Given the description of an element on the screen output the (x, y) to click on. 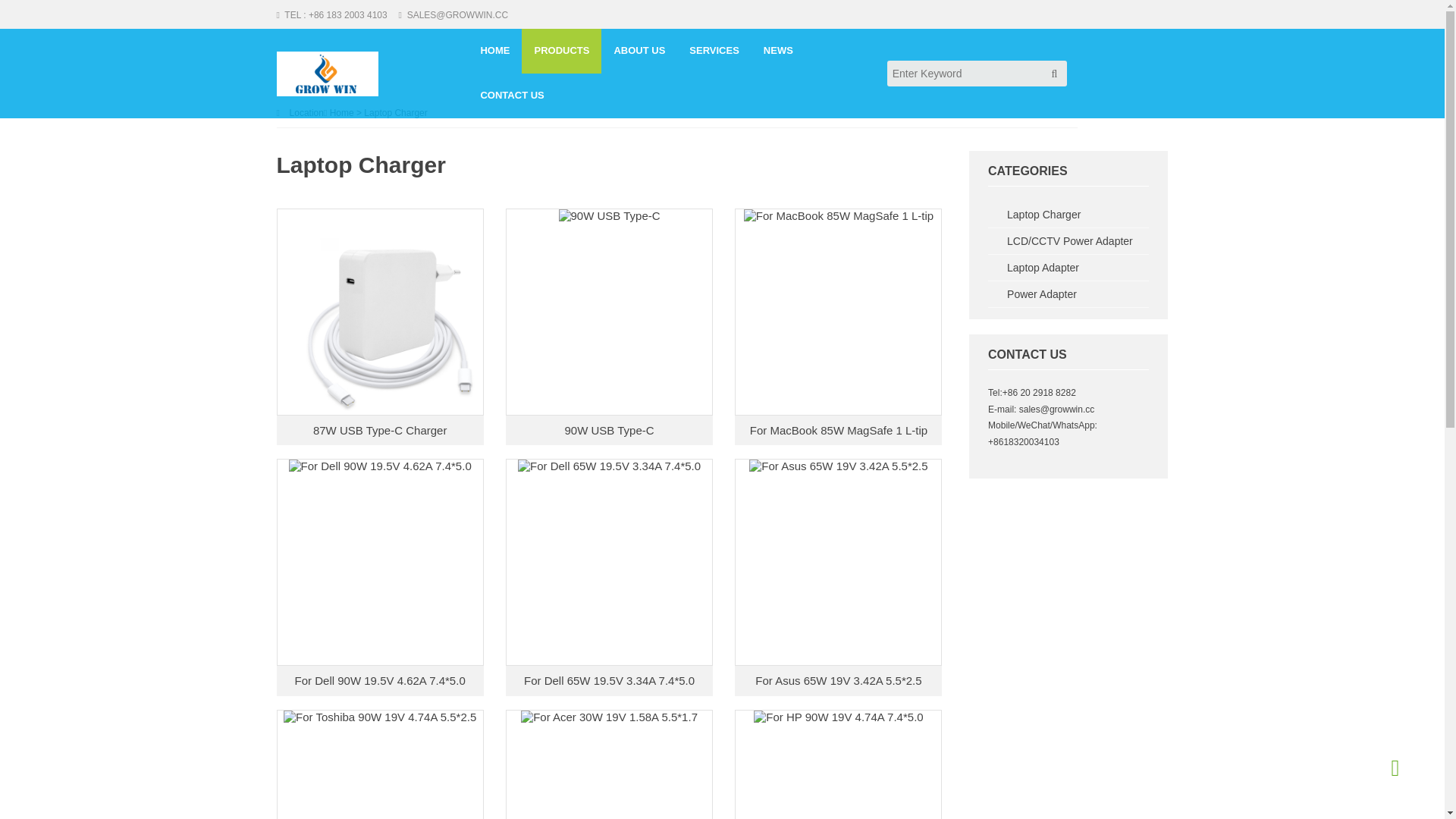
SERVICES Element type: text (714, 50)
CONTACT US Element type: text (511, 95)
 SALES@GROWWIN.CC Element type: text (453, 14)
Laptop Charger Element type: text (1068, 214)
For MacBook 85W MagSafe 1 L-tip Element type: text (837, 430)
For Asus 65W 19V 3.42A 5.5*2.5 Element type: text (837, 680)
Laptop Adapter Element type: text (1068, 267)
90W USB Type-C Element type: text (608, 430)
NEWS Element type: text (778, 50)
For Dell 90W 19.5V 4.62A 7.4*5.0 Element type: text (379, 680)
LCD/CCTV Power Adapter Element type: text (1068, 241)
PRODUCTS Element type: text (561, 50)
Laptop Charger Element type: text (395, 112)
87W USB Type-C Charger Element type: text (379, 430)
ABOUT US Element type: text (639, 50)
Search Element type: hover (1053, 73)
Home Element type: text (341, 112)
HOME Element type: text (494, 50)
Power Adapter Element type: text (1068, 294)
 TEL : +86 183 2003 4103 Element type: text (335, 14)
For Dell 65W 19.5V 3.34A 7.4*5.0 Element type: text (608, 680)
